Given the description of an element on the screen output the (x, y) to click on. 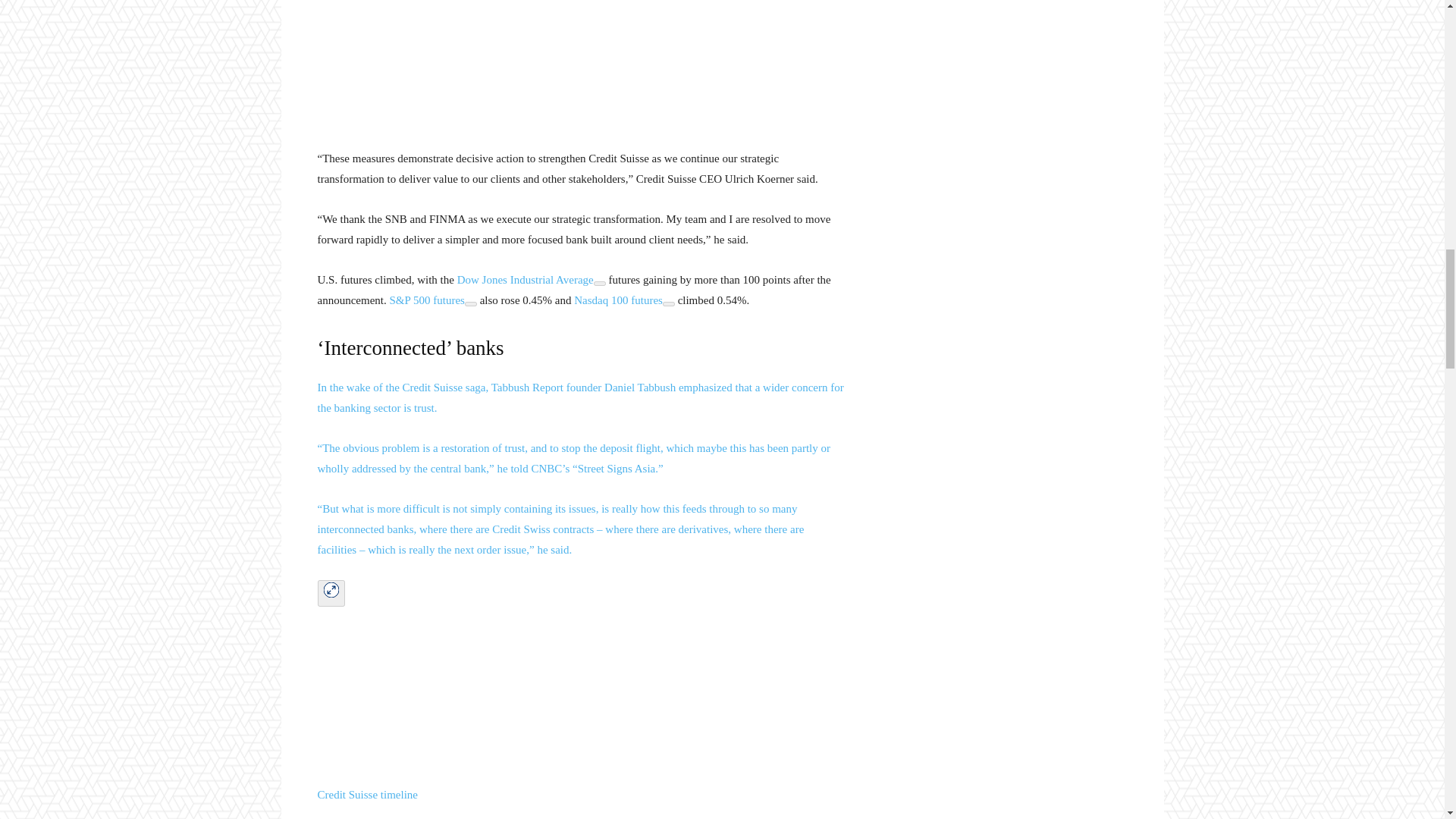
Zoom In IconArrows pointing outwards (330, 589)
Embedded Interactive Chart (580, 61)
